Given the description of an element on the screen output the (x, y) to click on. 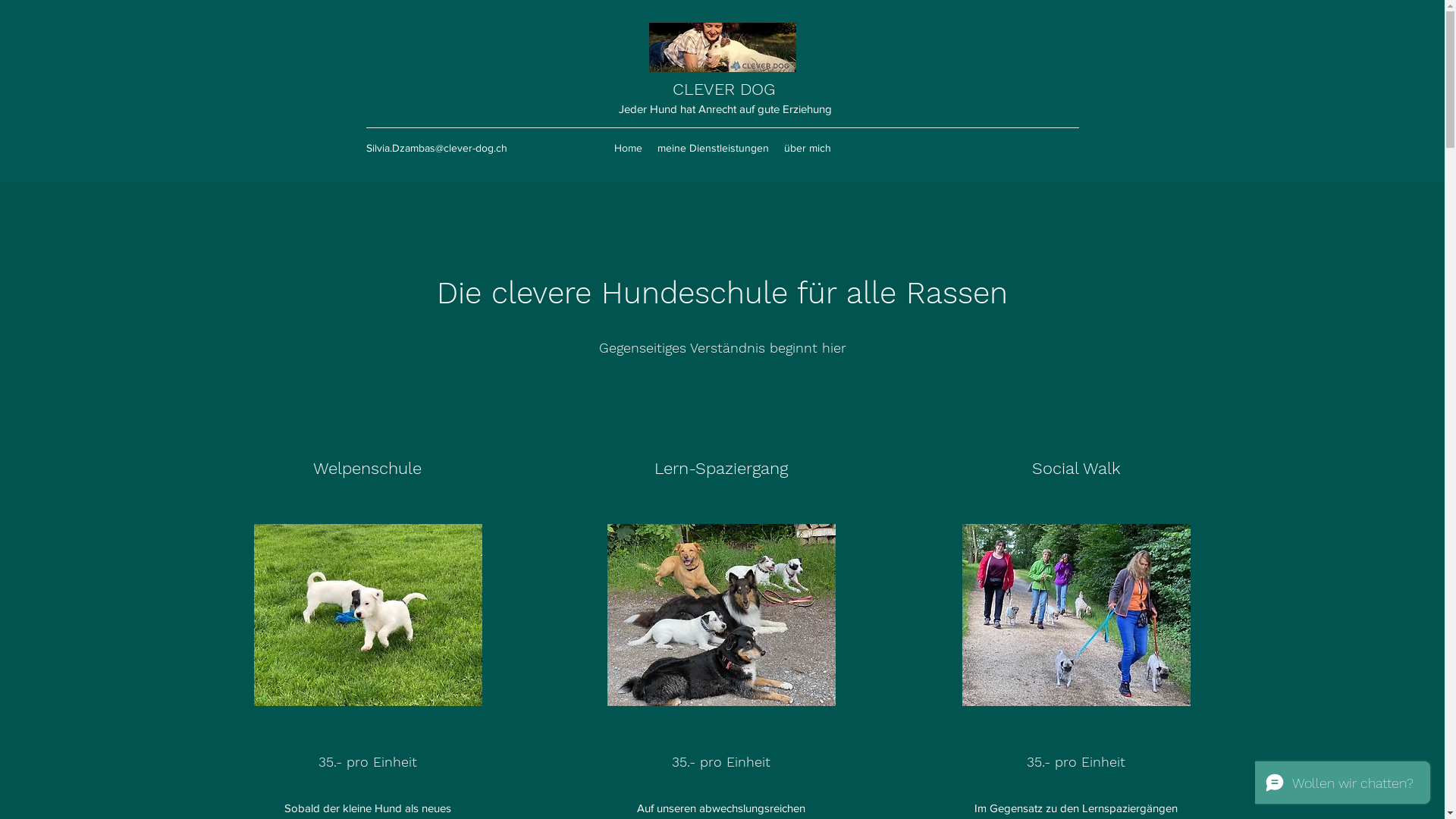
Home Element type: text (627, 147)
meine Dienstleistungen Element type: text (712, 147)
Silvia.Dzambas@clever-dog.ch Element type: text (435, 147)
